Given the description of an element on the screen output the (x, y) to click on. 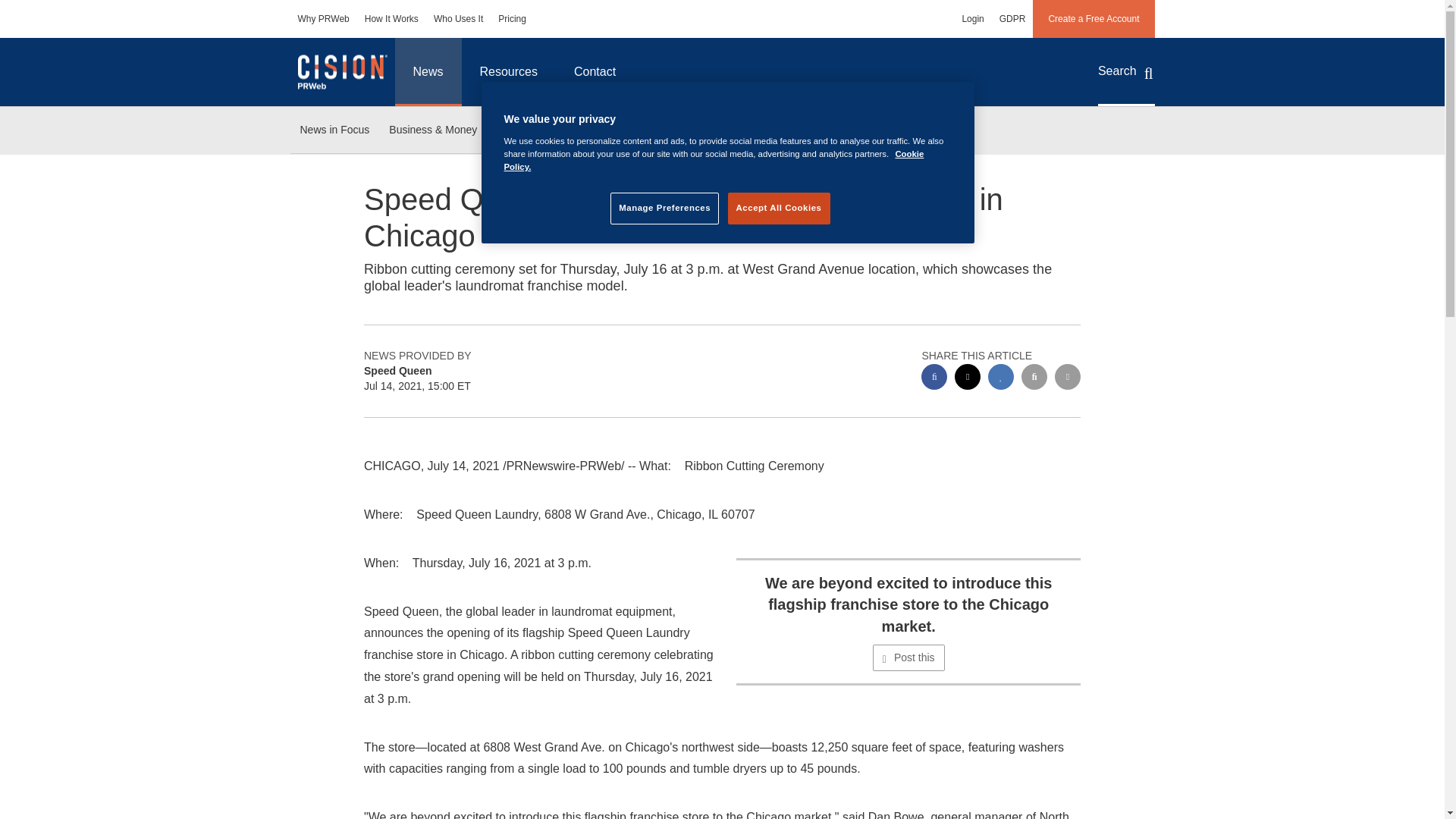
News in Focus (333, 130)
